Given the description of an element on the screen output the (x, y) to click on. 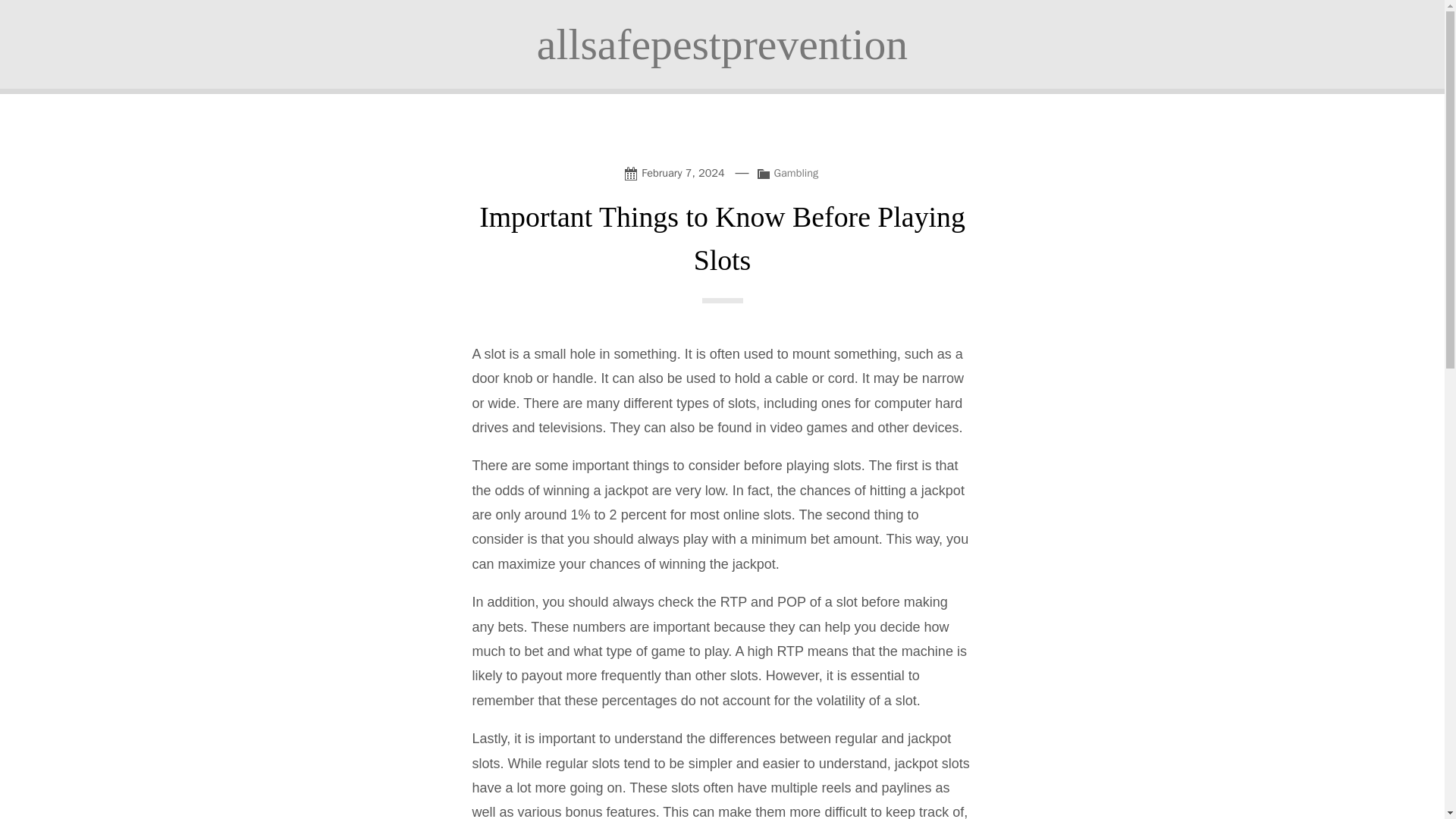
Gambling (796, 172)
allsafepestprevention (722, 43)
